Given the description of an element on the screen output the (x, y) to click on. 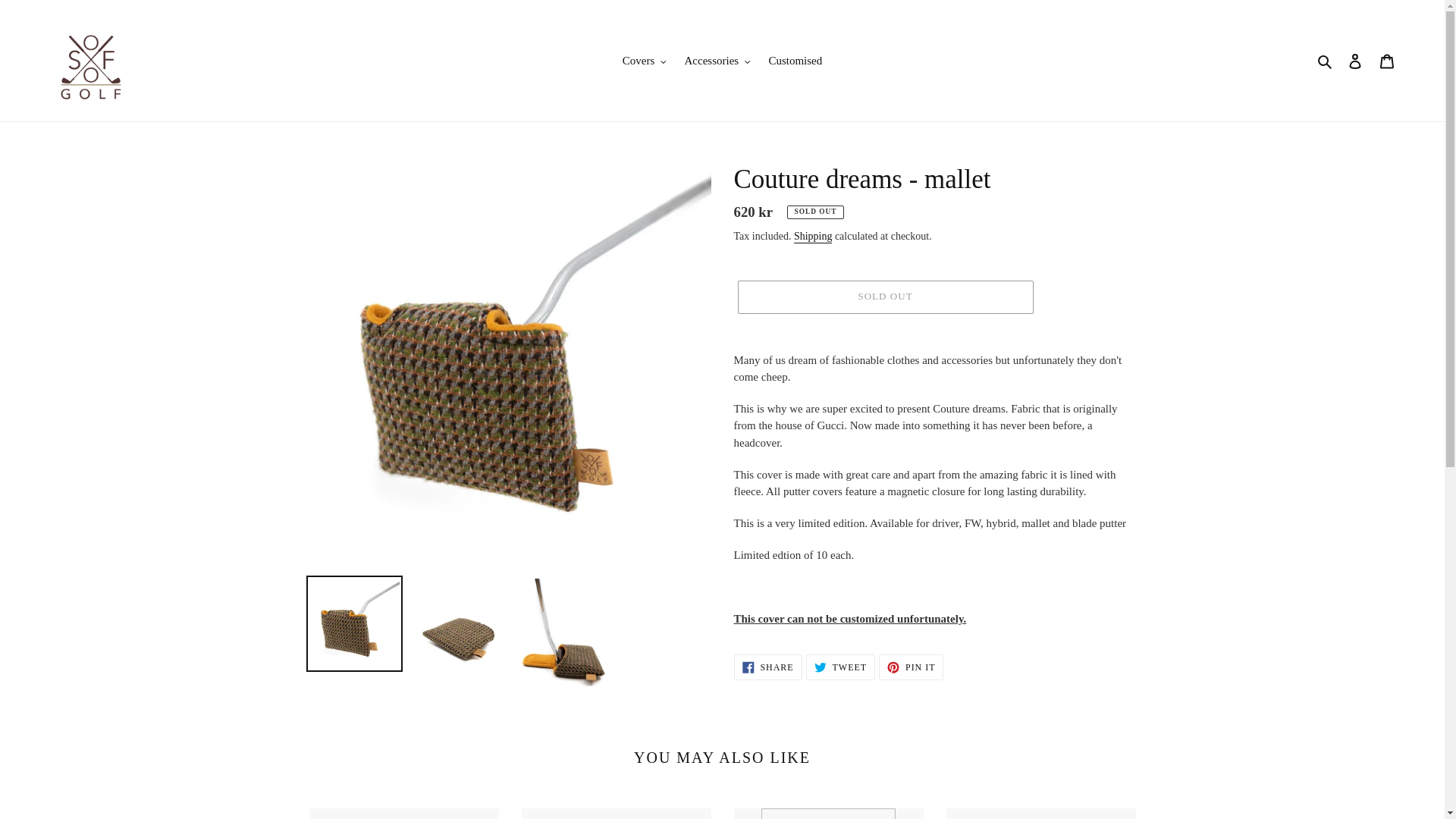
Customised (794, 60)
Log in (1355, 60)
Search (1326, 60)
Cart (1387, 60)
Covers (644, 60)
Accessories (717, 60)
